Given the description of an element on the screen output the (x, y) to click on. 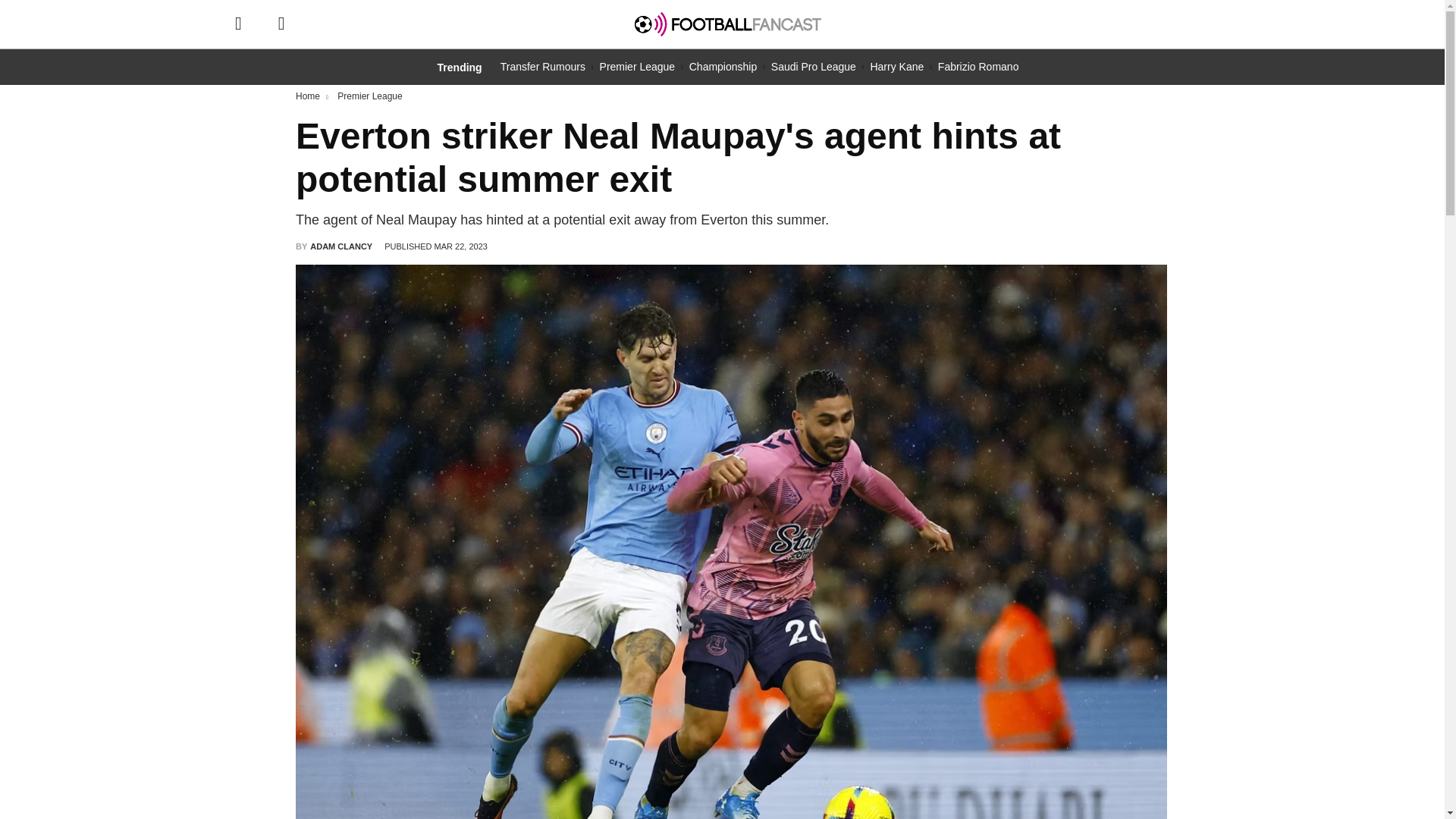
FootballFanCast (727, 24)
Harry Kane (896, 66)
Saudi Pro League (813, 66)
Fabrizio Romano (978, 66)
Transfer Rumours (542, 66)
Championship (722, 66)
Premier League (637, 66)
